Given the description of an element on the screen output the (x, y) to click on. 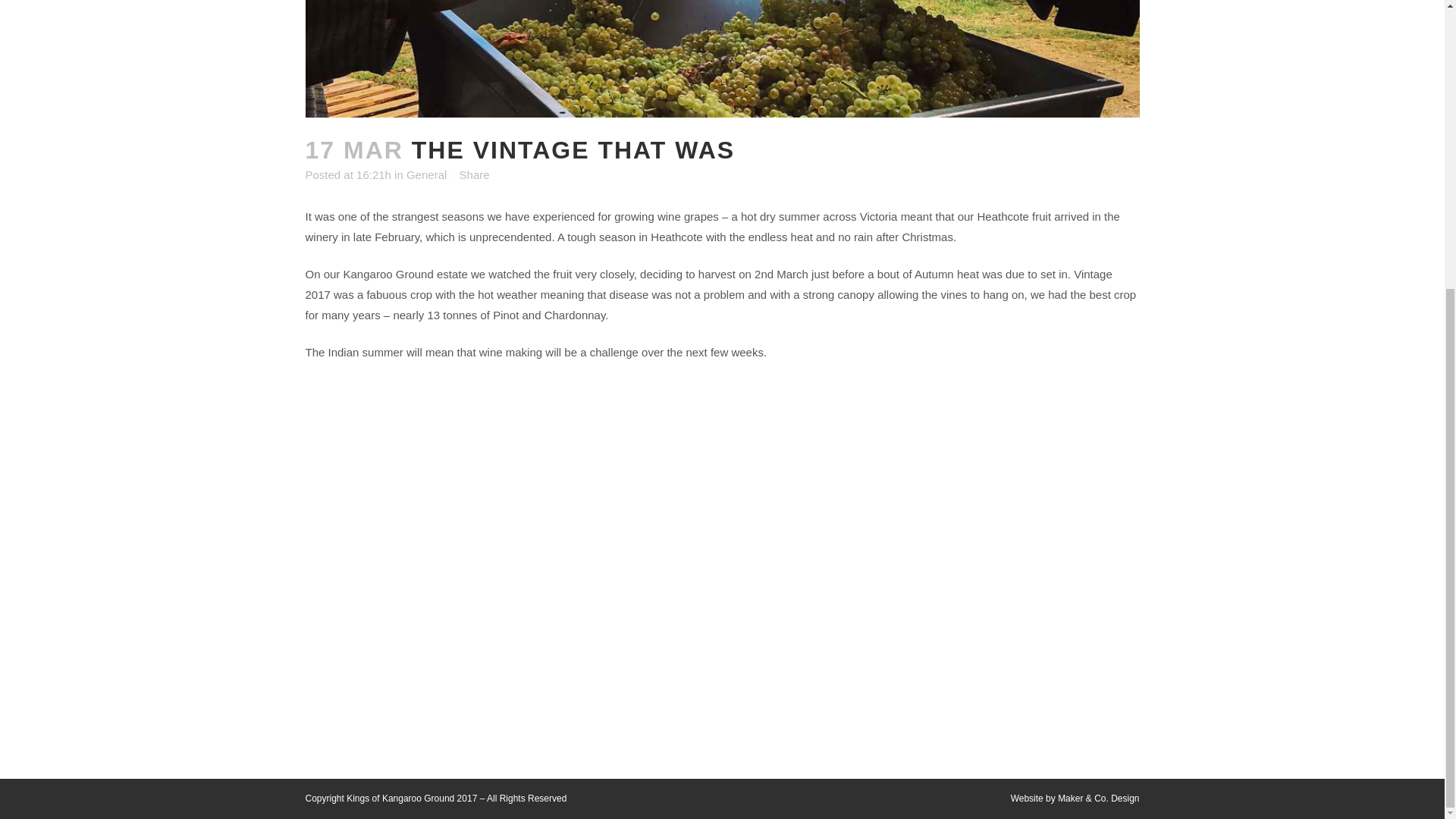
Click Here (388, 499)
Share (474, 174)
General (426, 174)
Privacy Policy (729, 716)
Shipping Terms (729, 686)
Terms and Conditions (729, 657)
